Given the description of an element on the screen output the (x, y) to click on. 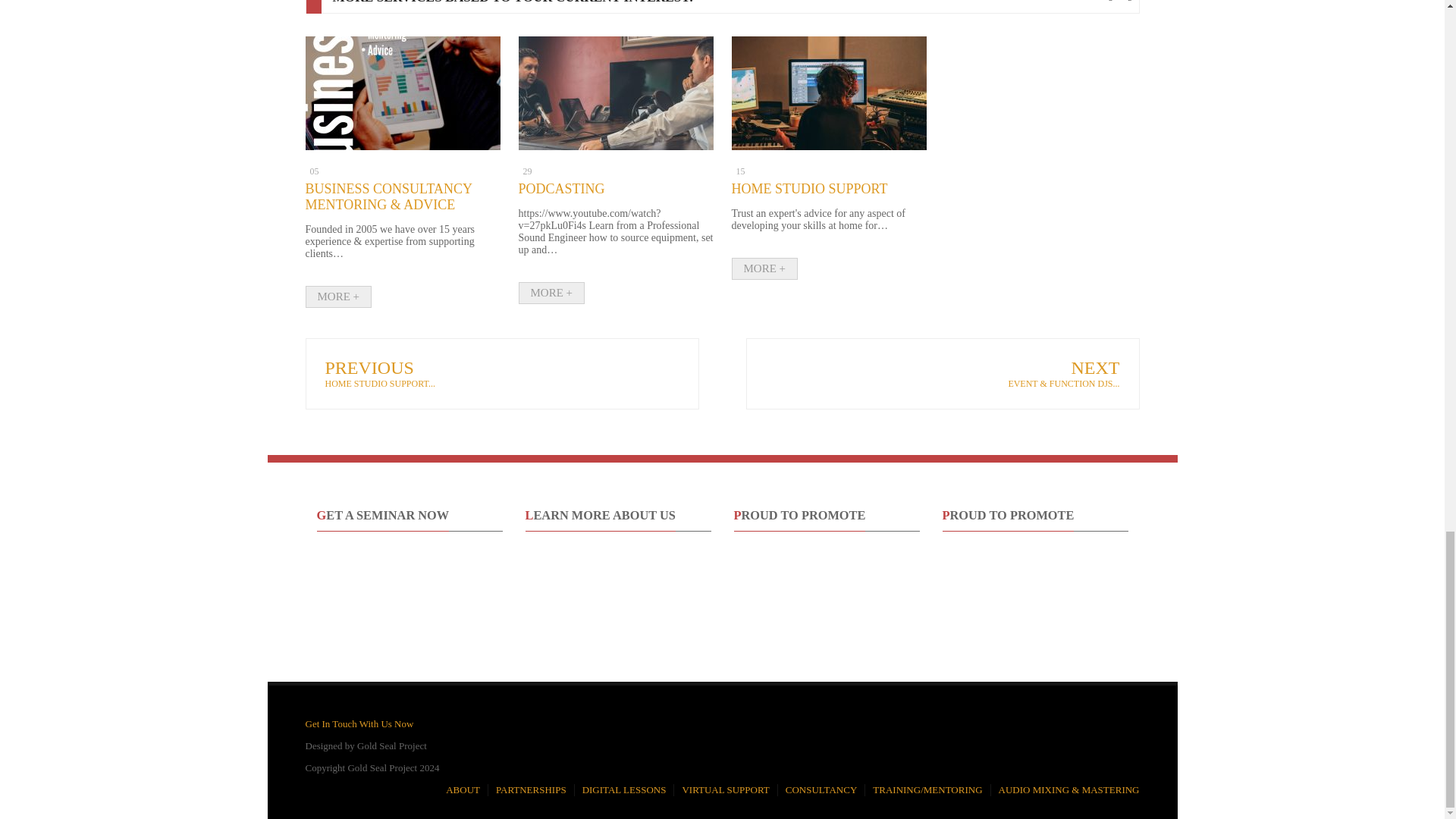
Gold Seal Project - Zoom Seminars Explain pt 2 (617, 606)
